Given the description of an element on the screen output the (x, y) to click on. 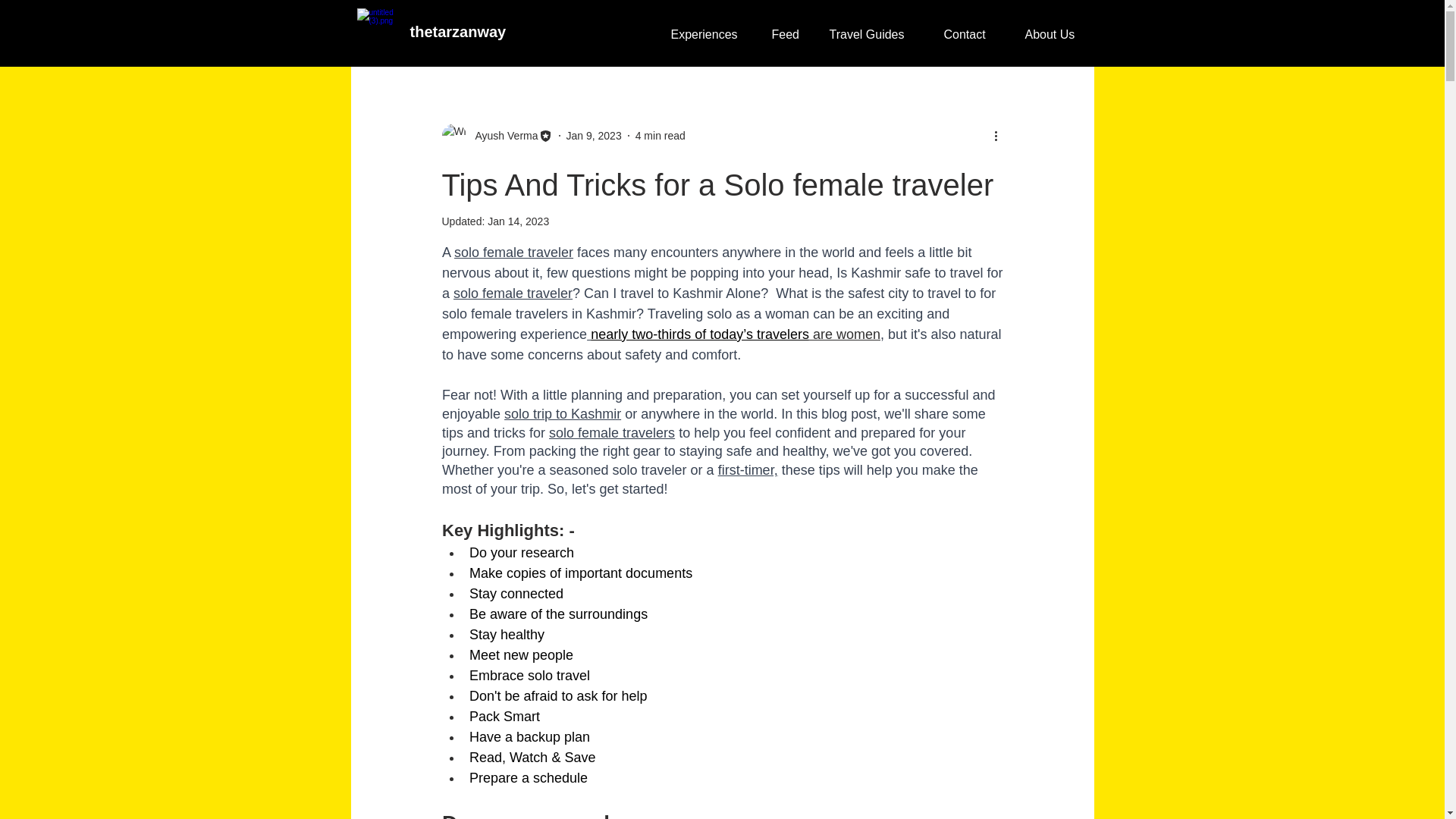
Prepare a schedule (527, 777)
Have a backup plan (528, 736)
Jan 9, 2023 (593, 134)
Be aware of the surroundings (557, 613)
solo female traveler (513, 252)
Do your research (520, 552)
first-timer, (747, 469)
Stay healthy (505, 634)
thetarzanway (457, 31)
Meet new people (520, 654)
Don't be afraid to ask for help (557, 695)
Make copies of important documents (579, 572)
Embrace solo travel (528, 675)
Contact (964, 33)
Experiences (702, 33)
